Given the description of an element on the screen output the (x, y) to click on. 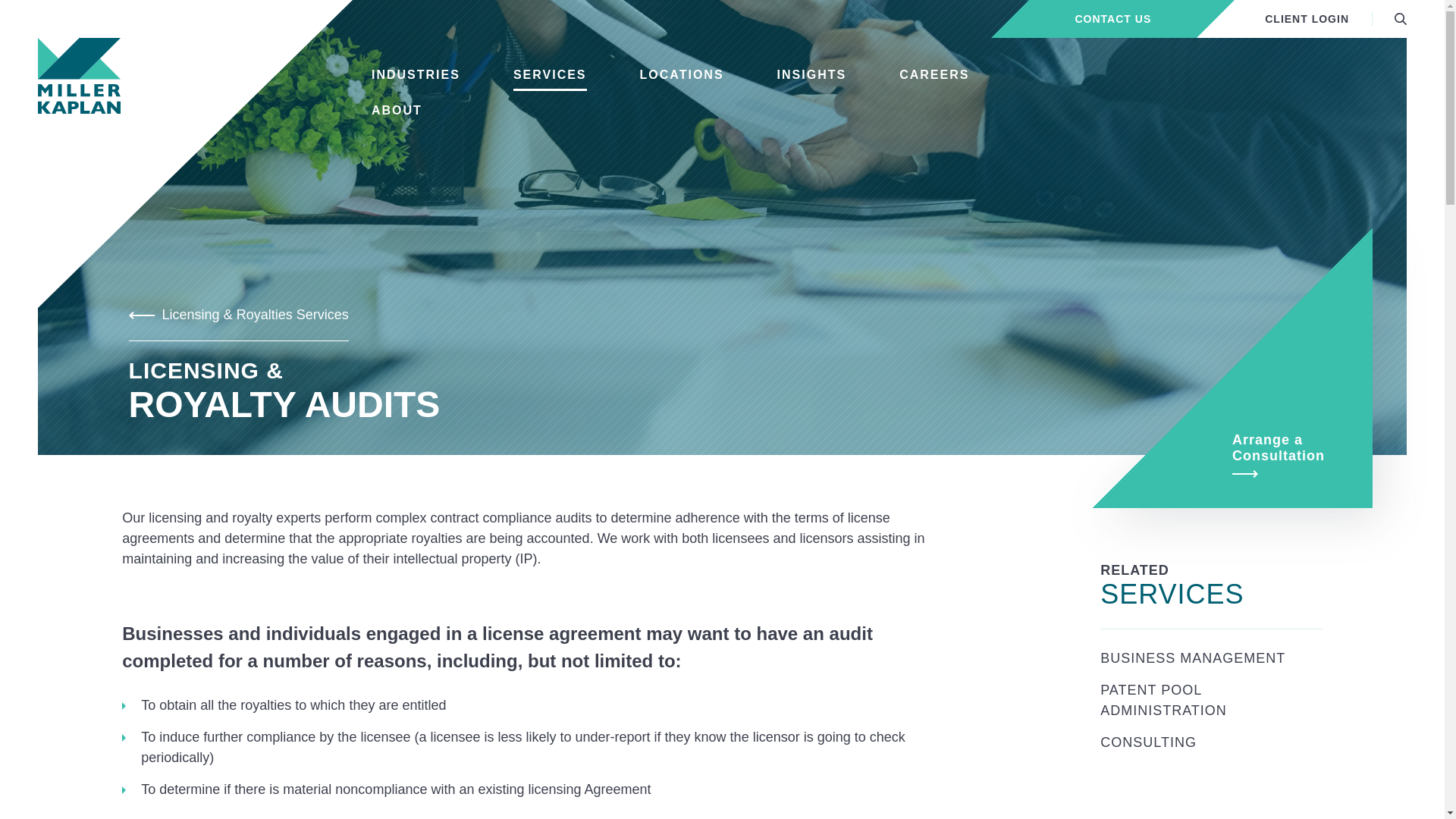
SERVICES (549, 74)
Miller Kaplan (78, 75)
INDUSTRIES (415, 74)
